Given the description of an element on the screen output the (x, y) to click on. 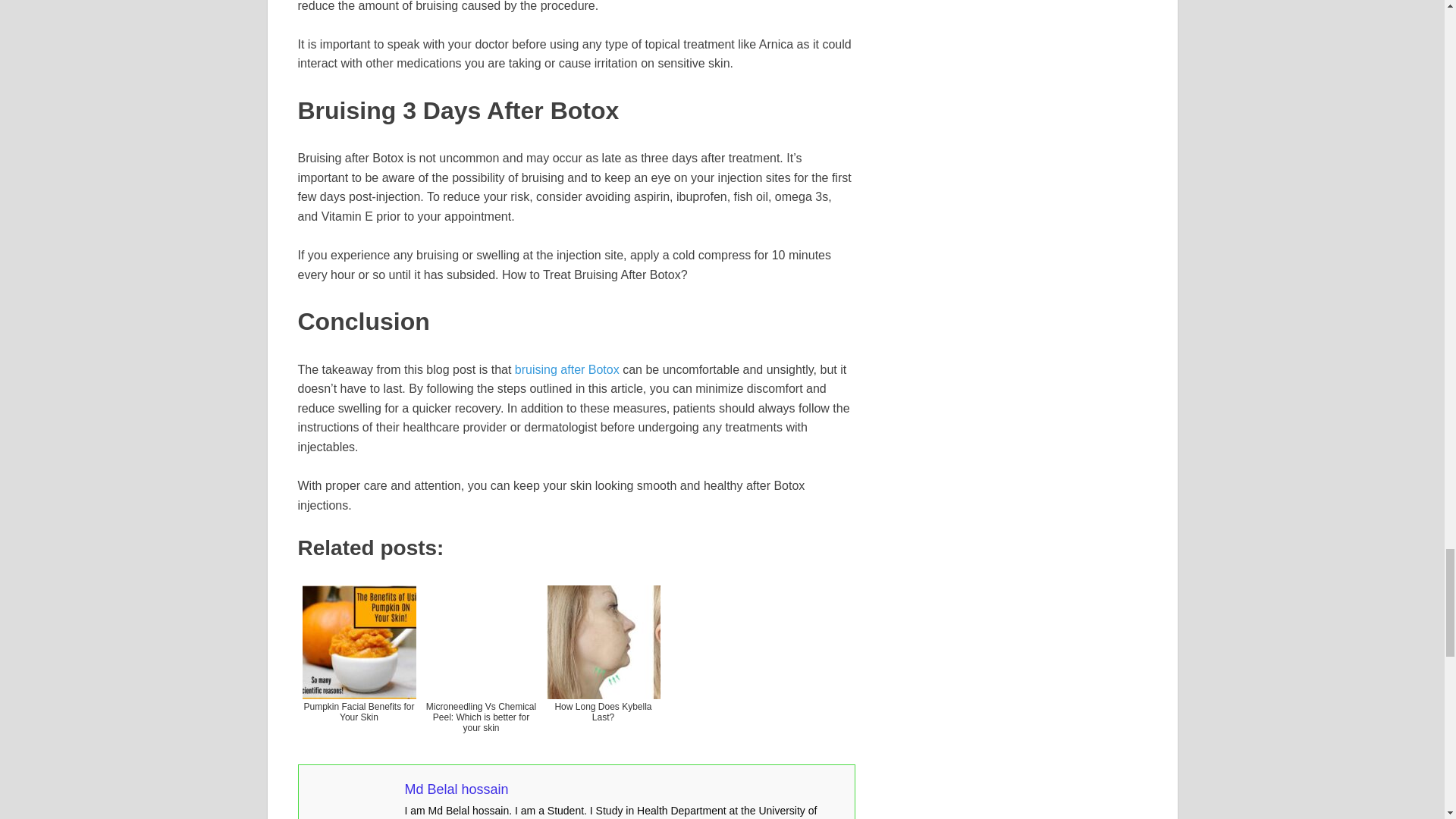
bruising after Botox (567, 369)
